Given the description of an element on the screen output the (x, y) to click on. 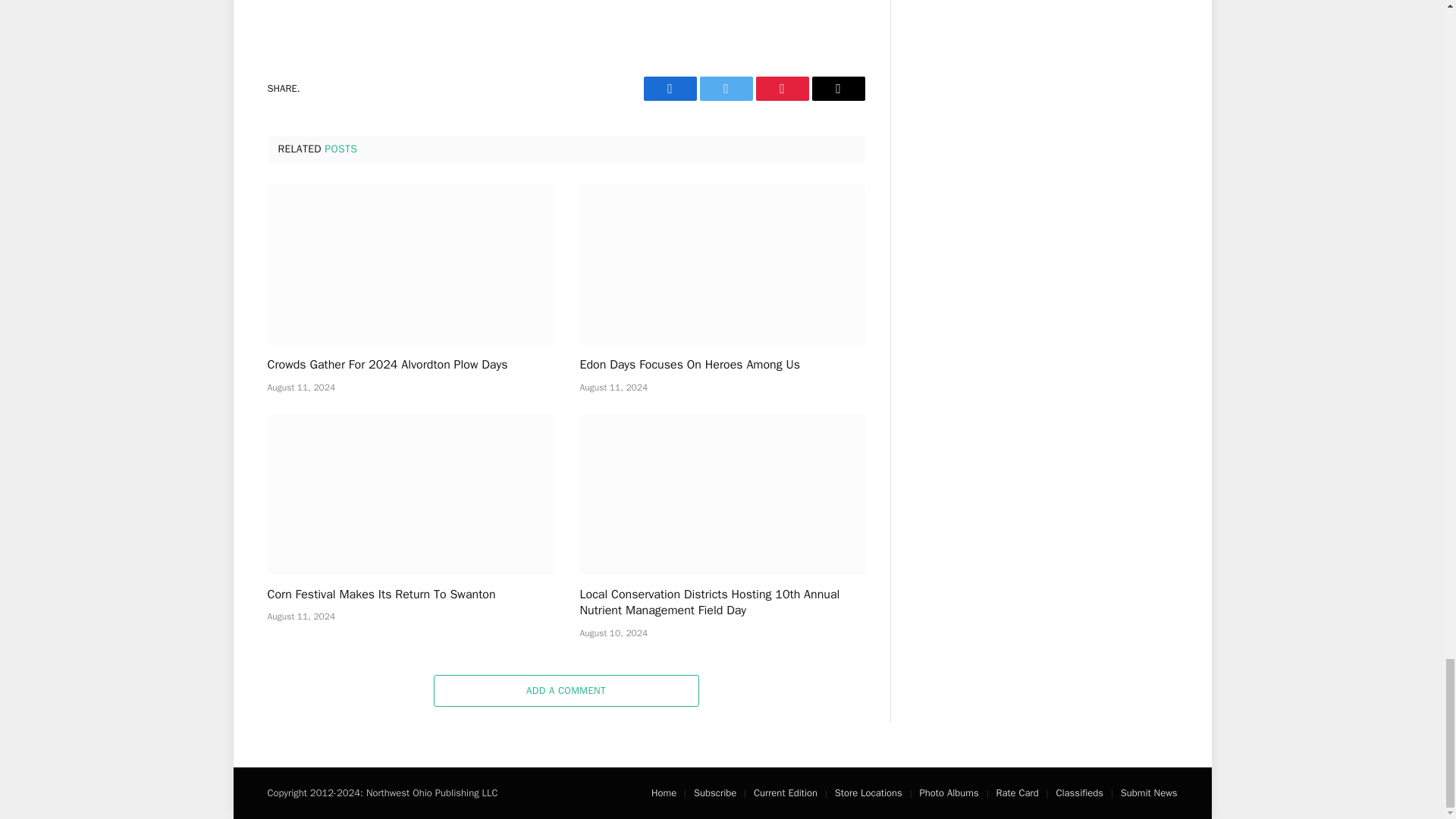
Share on Pinterest (781, 88)
Edon Days Focuses On Heroes Among Us (721, 265)
Share on Facebook (669, 88)
Crowds Gather For 2024 Alvordton Plow Days (408, 265)
Corn Festival Makes Its Return To Swanton (408, 494)
Share via Email (837, 88)
